Given the description of an element on the screen output the (x, y) to click on. 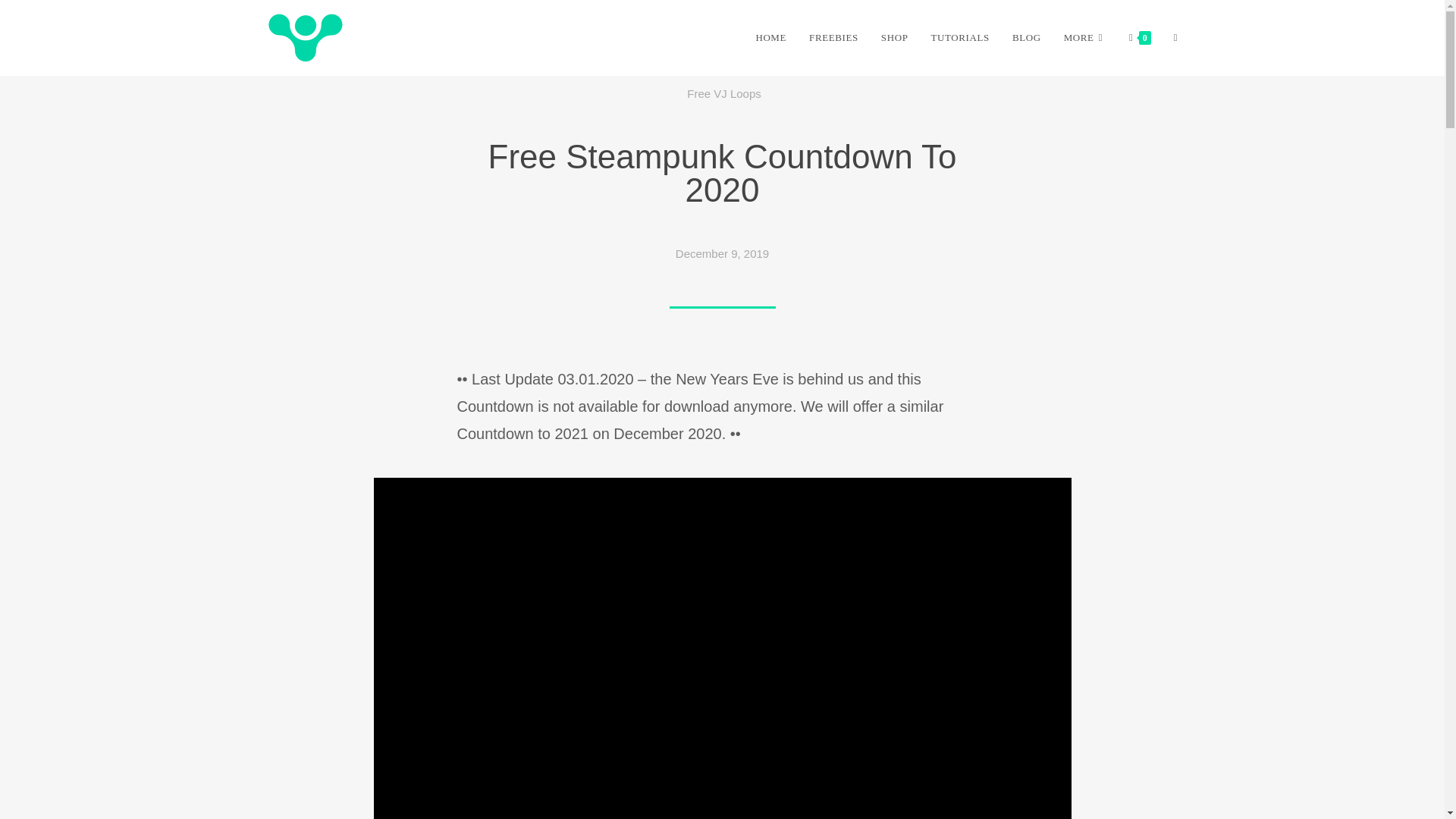
Free VJ Loops (724, 92)
FREEBIES (833, 38)
TUTORIALS (959, 38)
